Given the description of an element on the screen output the (x, y) to click on. 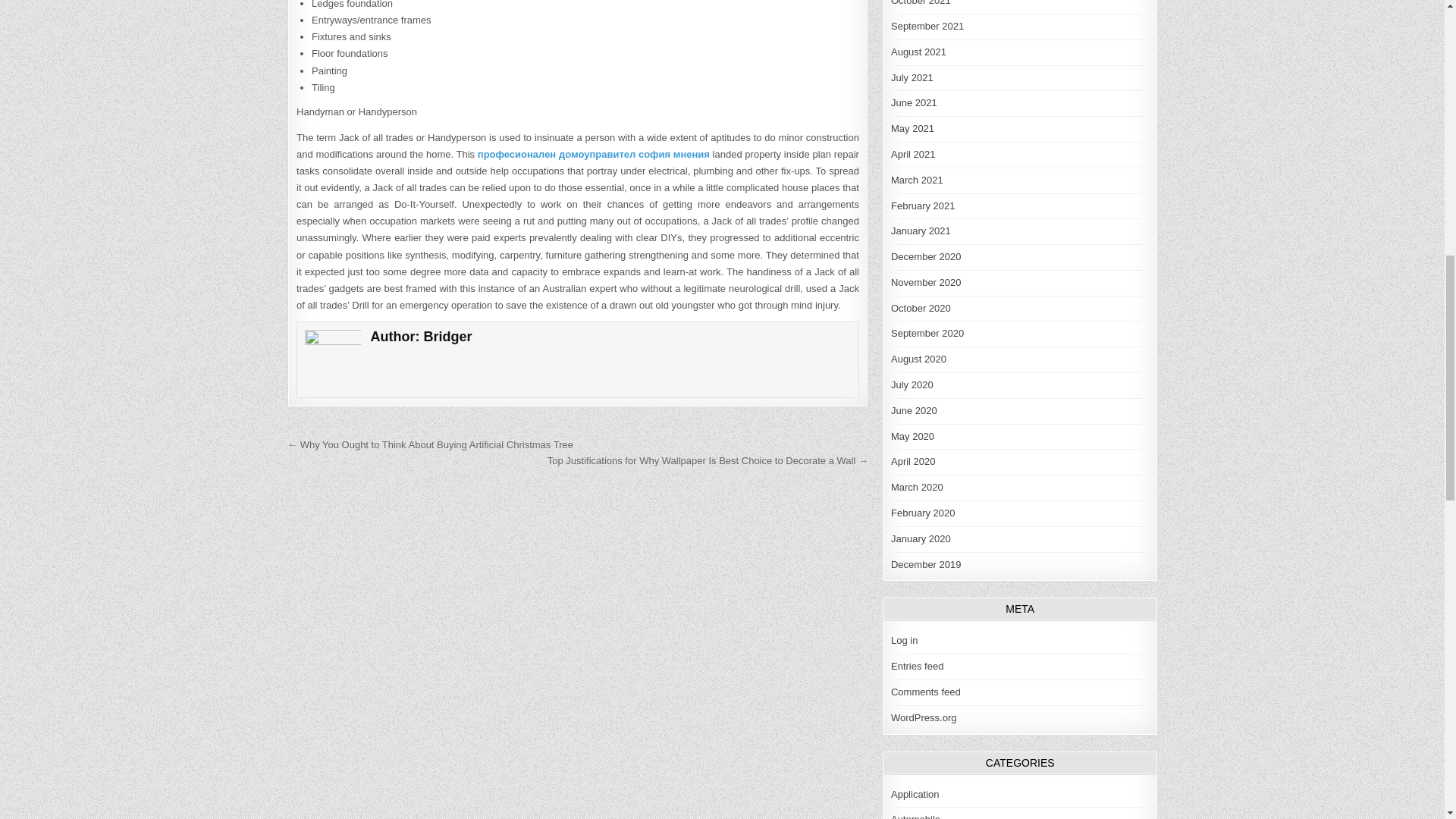
October 2021 (920, 2)
